Given the description of an element on the screen output the (x, y) to click on. 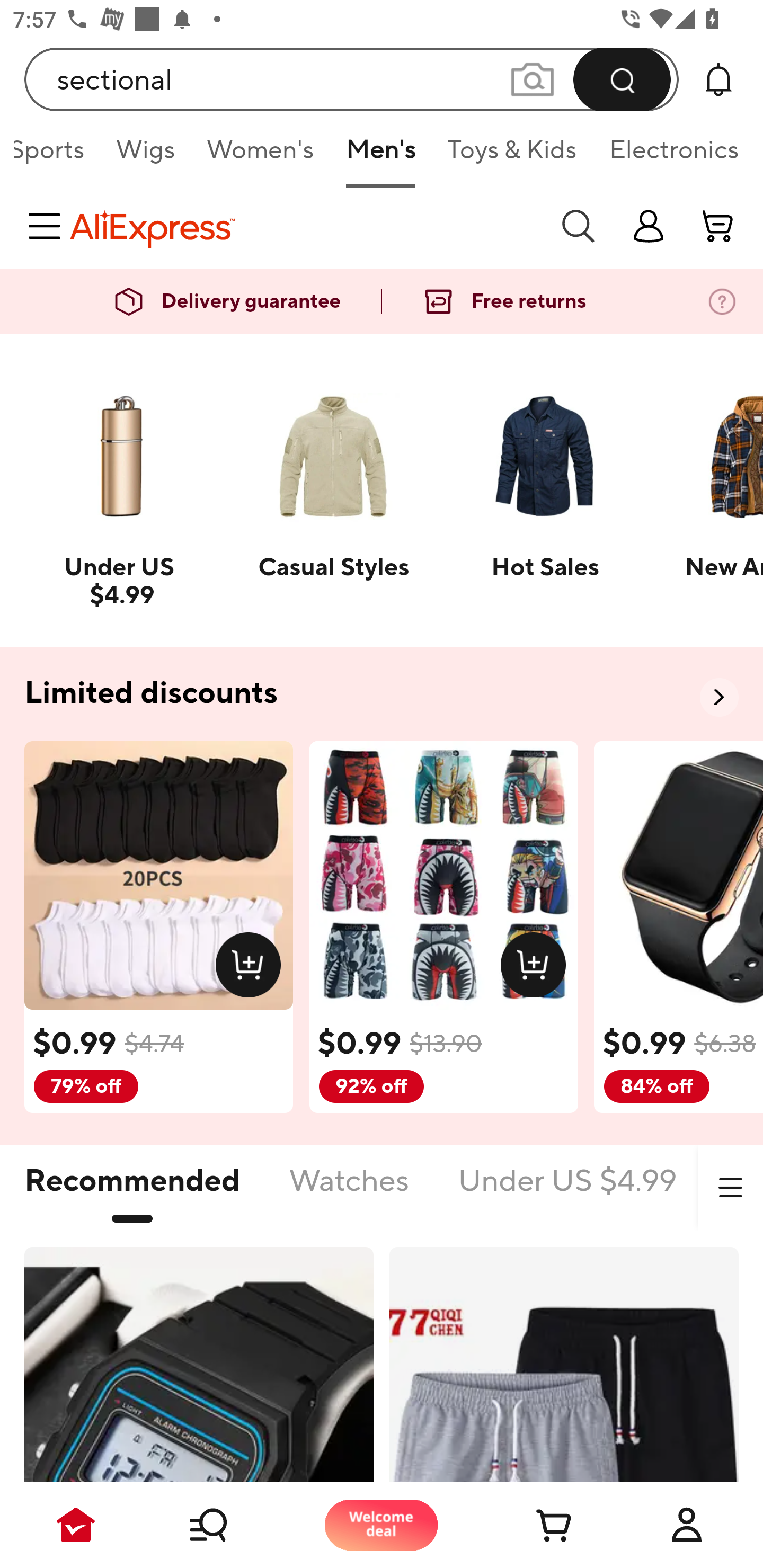
sectional (351, 79)
Sports (56, 155)
Wigs (144, 155)
Women's (260, 155)
Toys & Kids (511, 155)
Electronics (669, 155)
aliexpress (305, 225)
category (47, 225)
shop (648, 225)
account (718, 225)
Limited discounts  Limited discounts (381, 694)
128x128.png_ (252, 967)
128x128.png_ (536, 967)
 (730, 1188)
Recommended (132, 1191)
Watches (348, 1191)
Under US $4.99 (567, 1191)
Shop (228, 1524)
Cart (533, 1524)
Account (686, 1524)
